Given the description of an element on the screen output the (x, y) to click on. 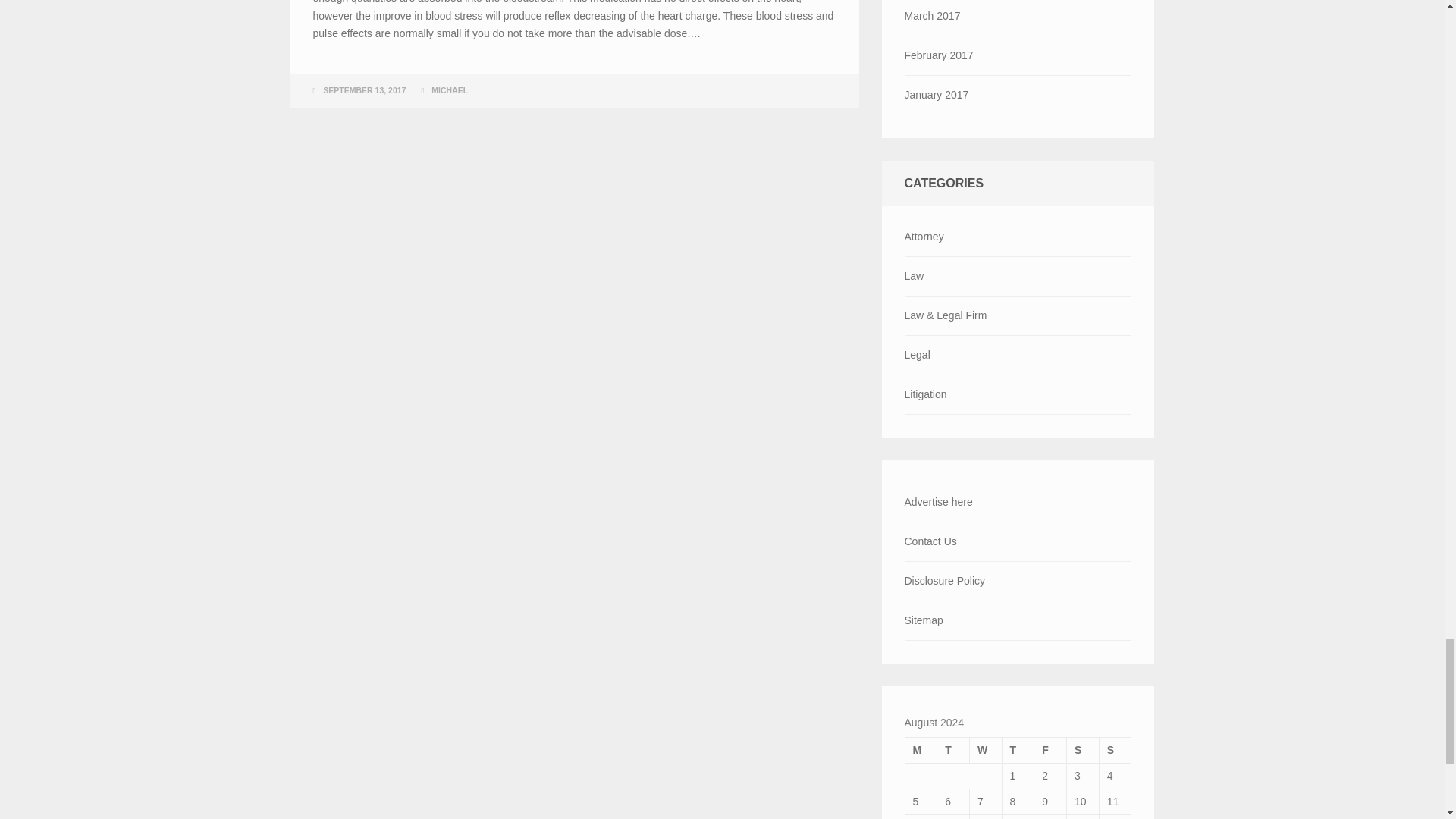
Thursday (1017, 749)
Sunday (1115, 749)
Friday (1050, 749)
SEPTEMBER 13, 2017 (364, 90)
Wednesday (985, 749)
Saturday (1083, 749)
MICHAEL (448, 90)
Monday (920, 749)
Tuesday (953, 749)
